Given the description of an element on the screen output the (x, y) to click on. 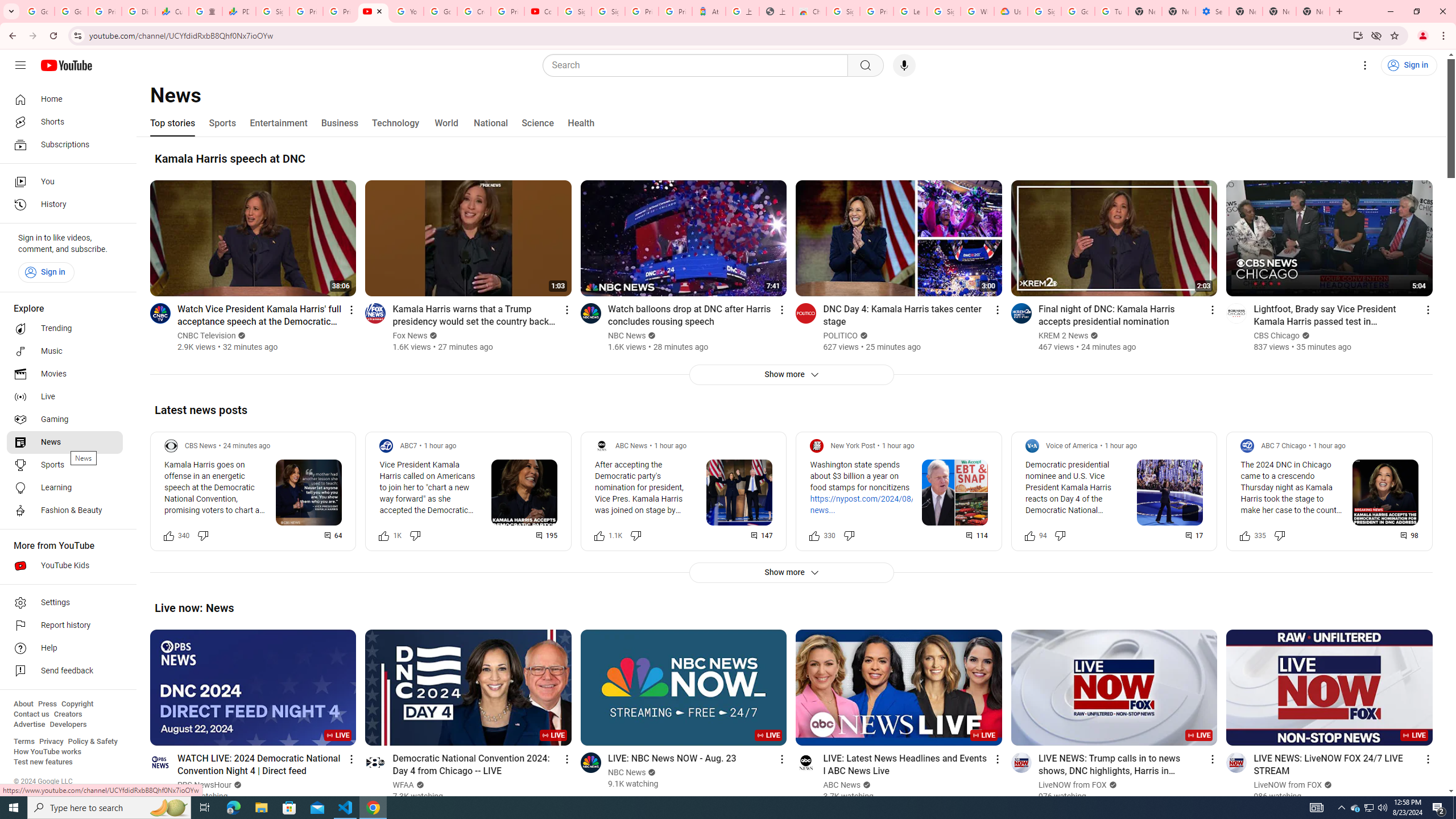
Gaming (64, 419)
Send feedback (64, 671)
Who are Google's partners? - Privacy and conditions - Google (976, 11)
1 hour ago (1329, 445)
National (490, 122)
World (446, 122)
Advertise (29, 724)
